Given the description of an element on the screen output the (x, y) to click on. 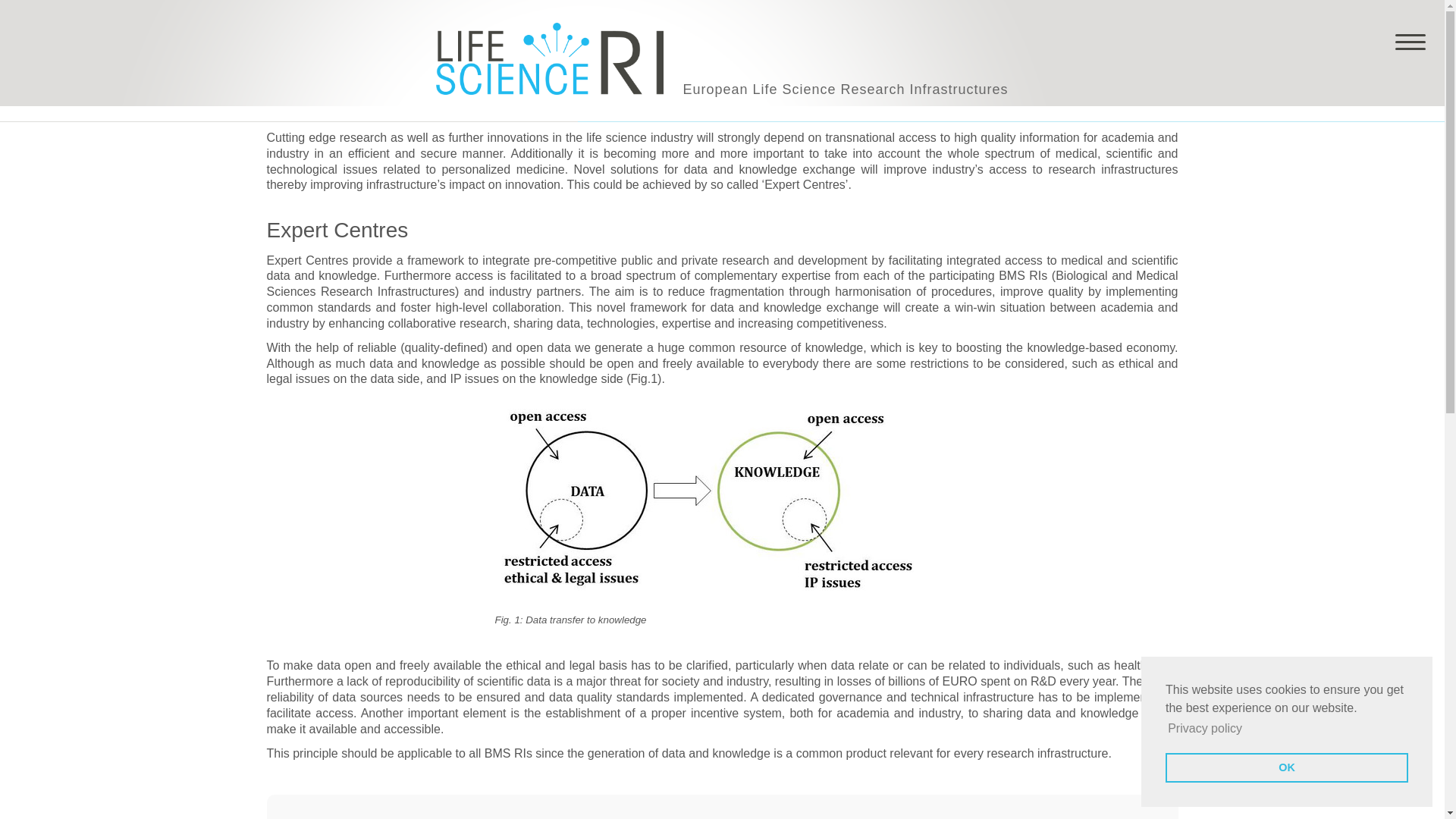
Privacy policy (1205, 728)
European Life Science Research Infrastructures (722, 58)
OK (1286, 767)
Toggle navigation (1410, 41)
